Given the description of an element on the screen output the (x, y) to click on. 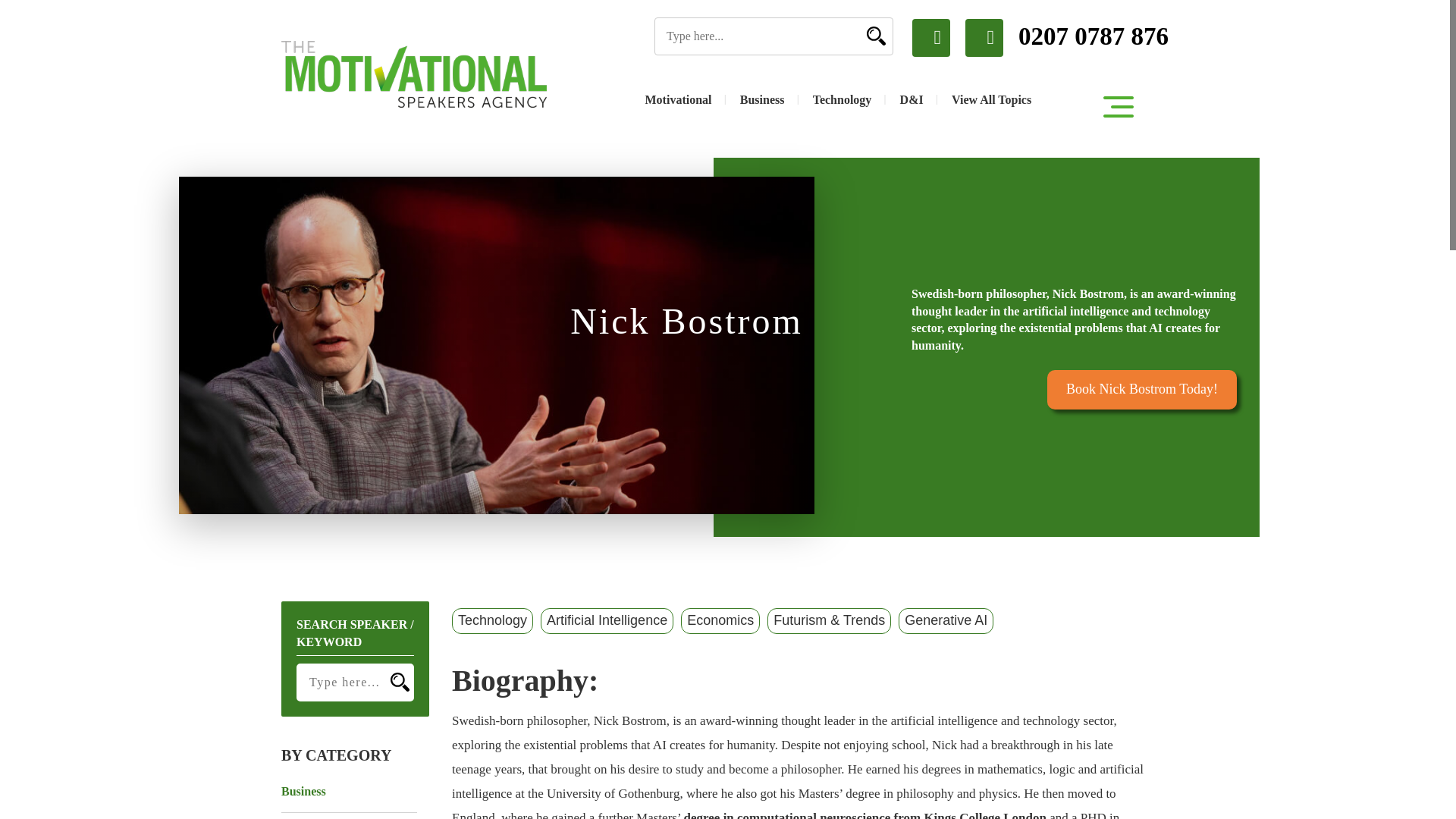
SEARCH (874, 35)
0207 0787 876 (1067, 37)
Home (414, 73)
